Given the description of an element on the screen output the (x, y) to click on. 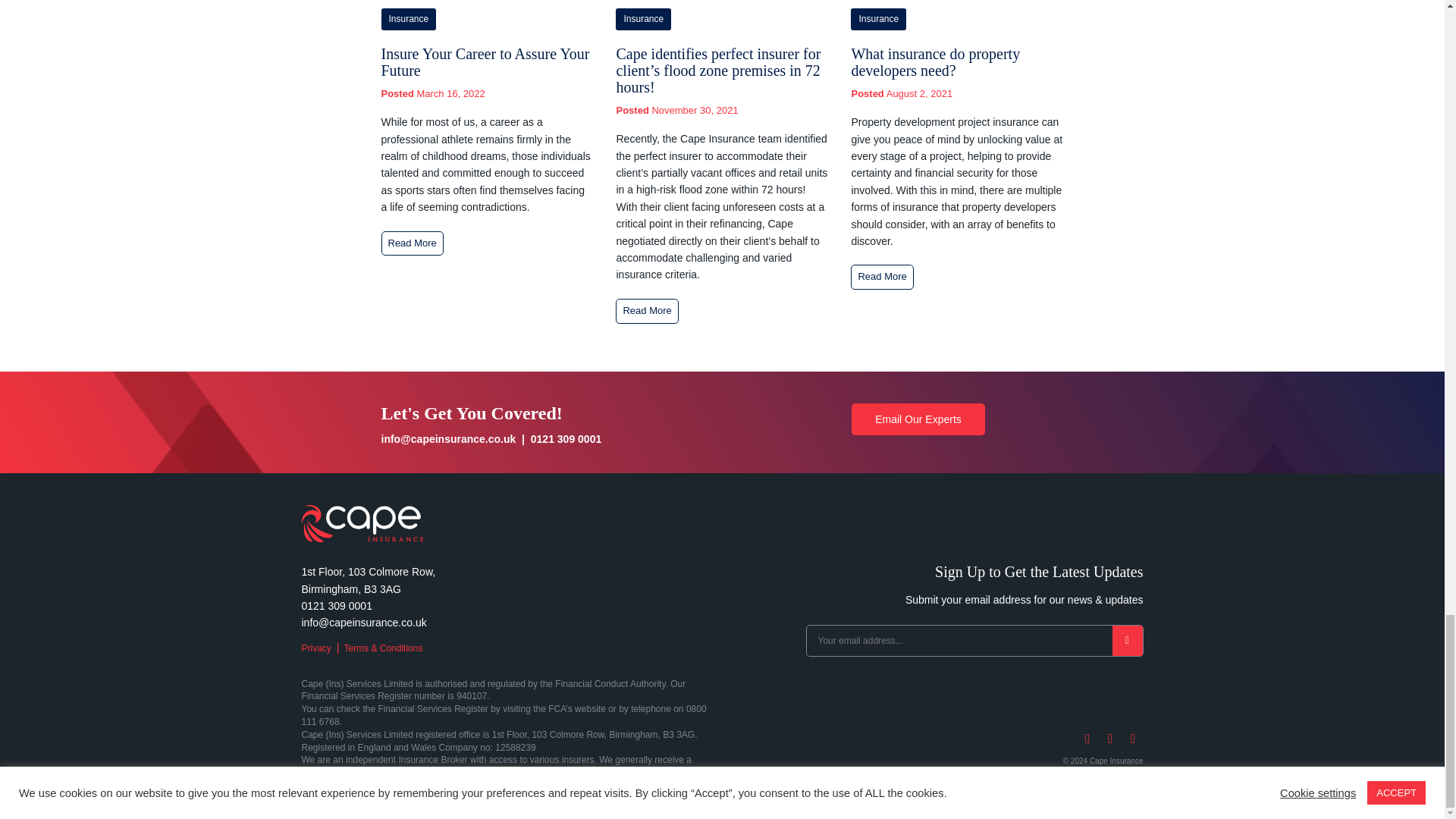
Read More (881, 276)
0121 309 0001 (566, 439)
Read More (411, 243)
Insurance (643, 19)
Read More (646, 310)
Insurance (877, 19)
Insurance (407, 19)
